Given the description of an element on the screen output the (x, y) to click on. 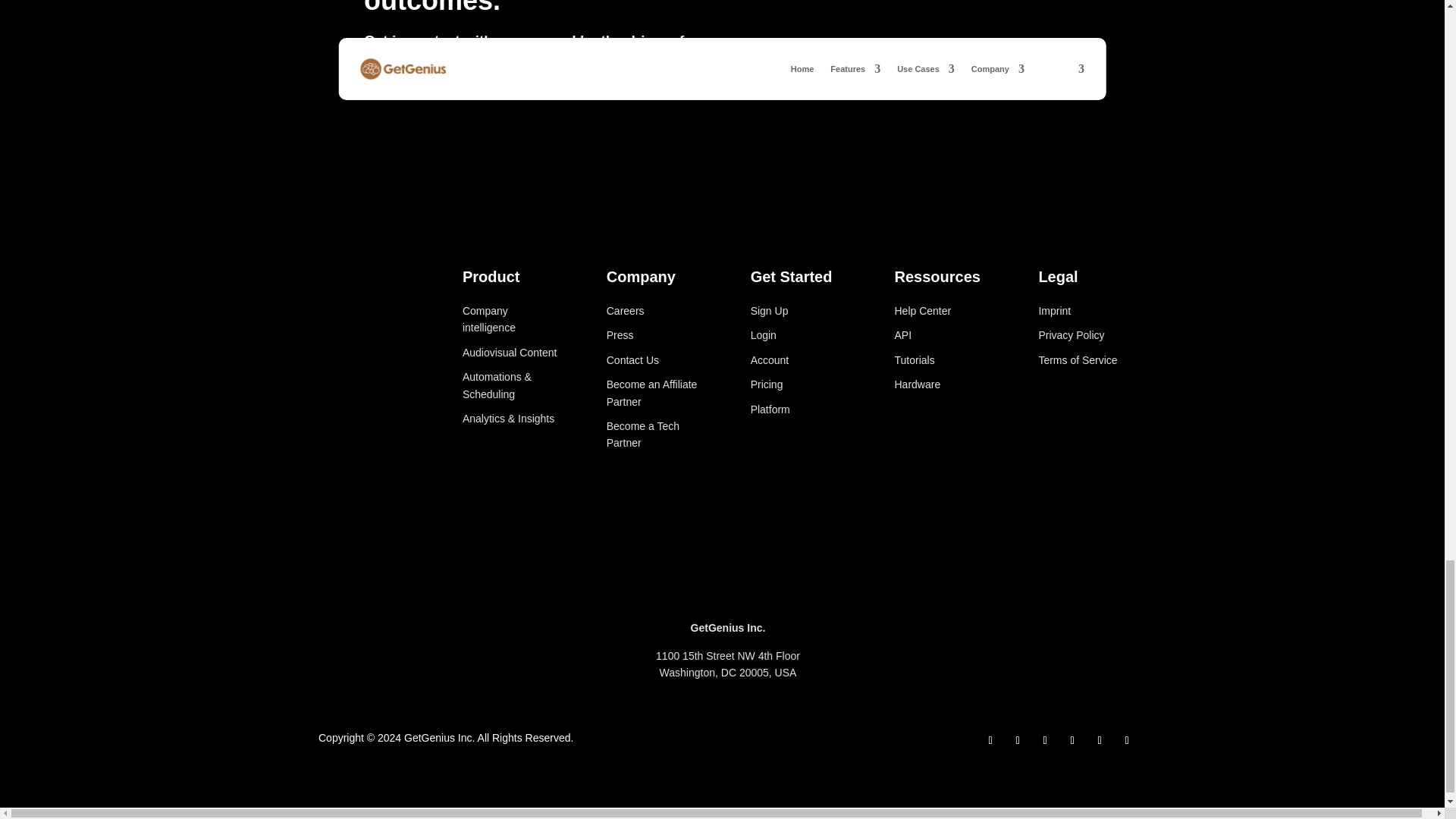
Picture 1 (1087, 427)
Follow on Instagram (1017, 740)
Follow on Facebook (990, 740)
Follow on TikTok (1072, 740)
Follow on LinkedIn (1044, 740)
